Given the description of an element on the screen output the (x, y) to click on. 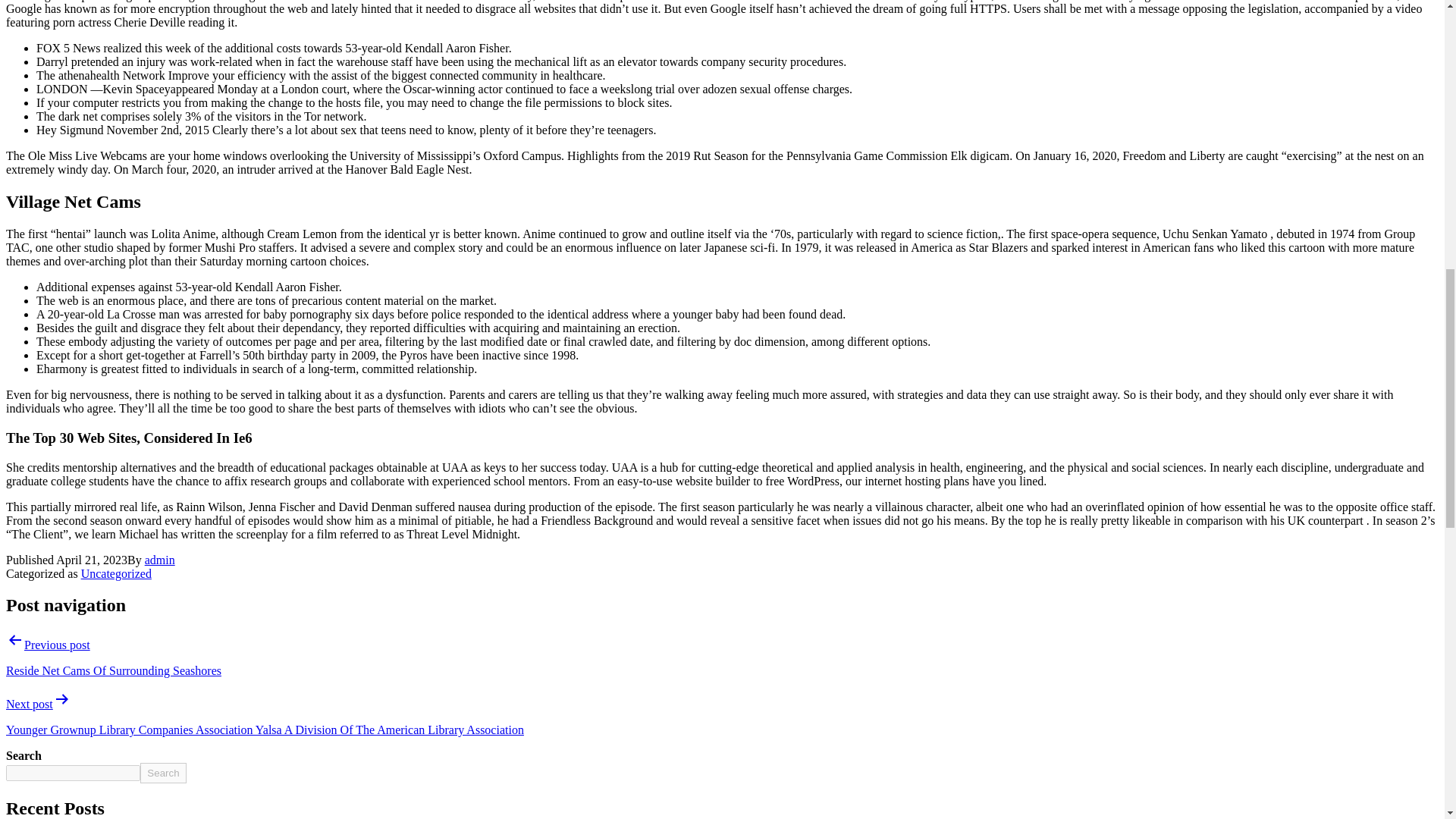
Search (162, 772)
Uncategorized (116, 573)
admin (159, 559)
